Given the description of an element on the screen output the (x, y) to click on. 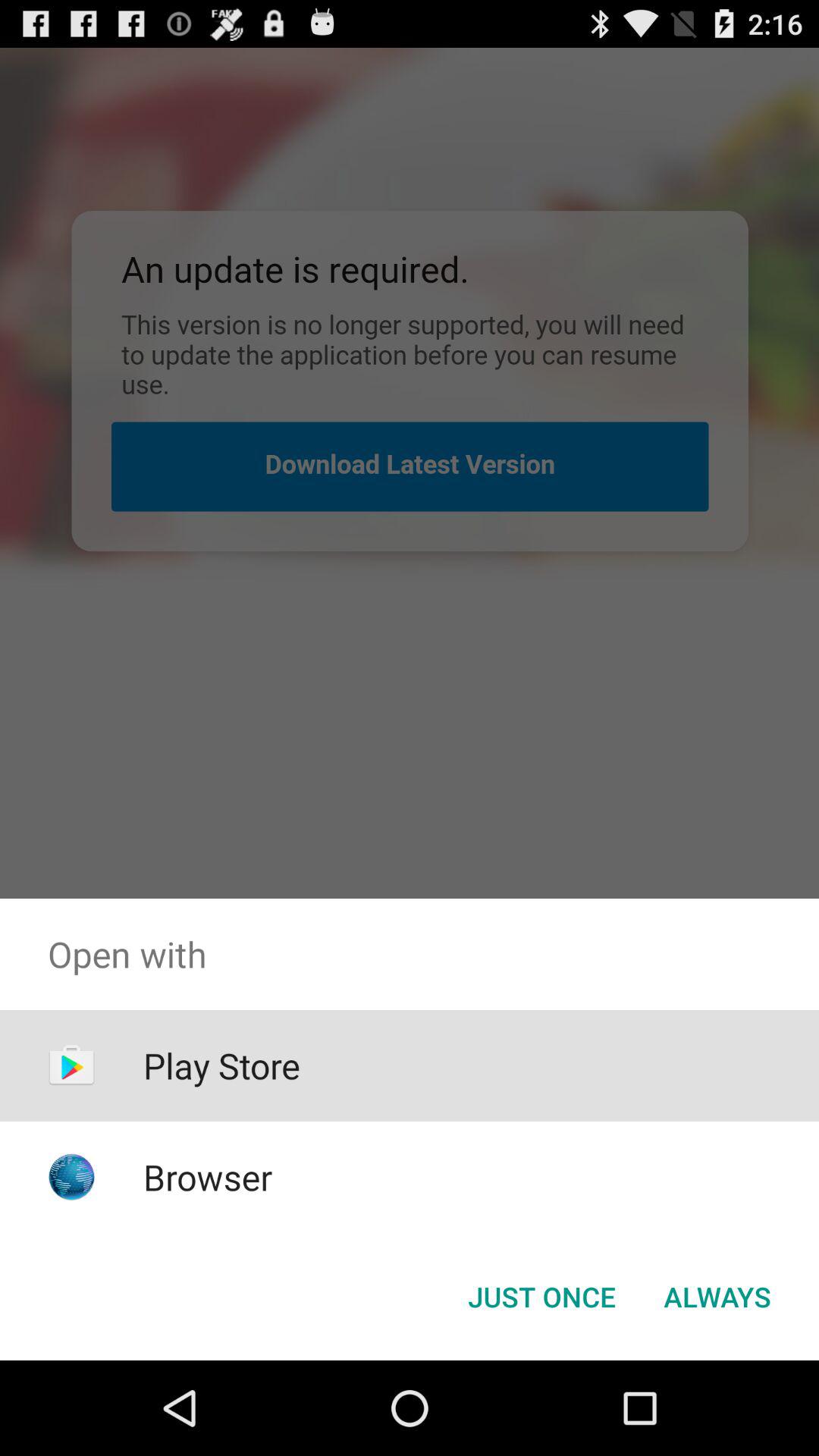
scroll until just once item (541, 1296)
